Given the description of an element on the screen output the (x, y) to click on. 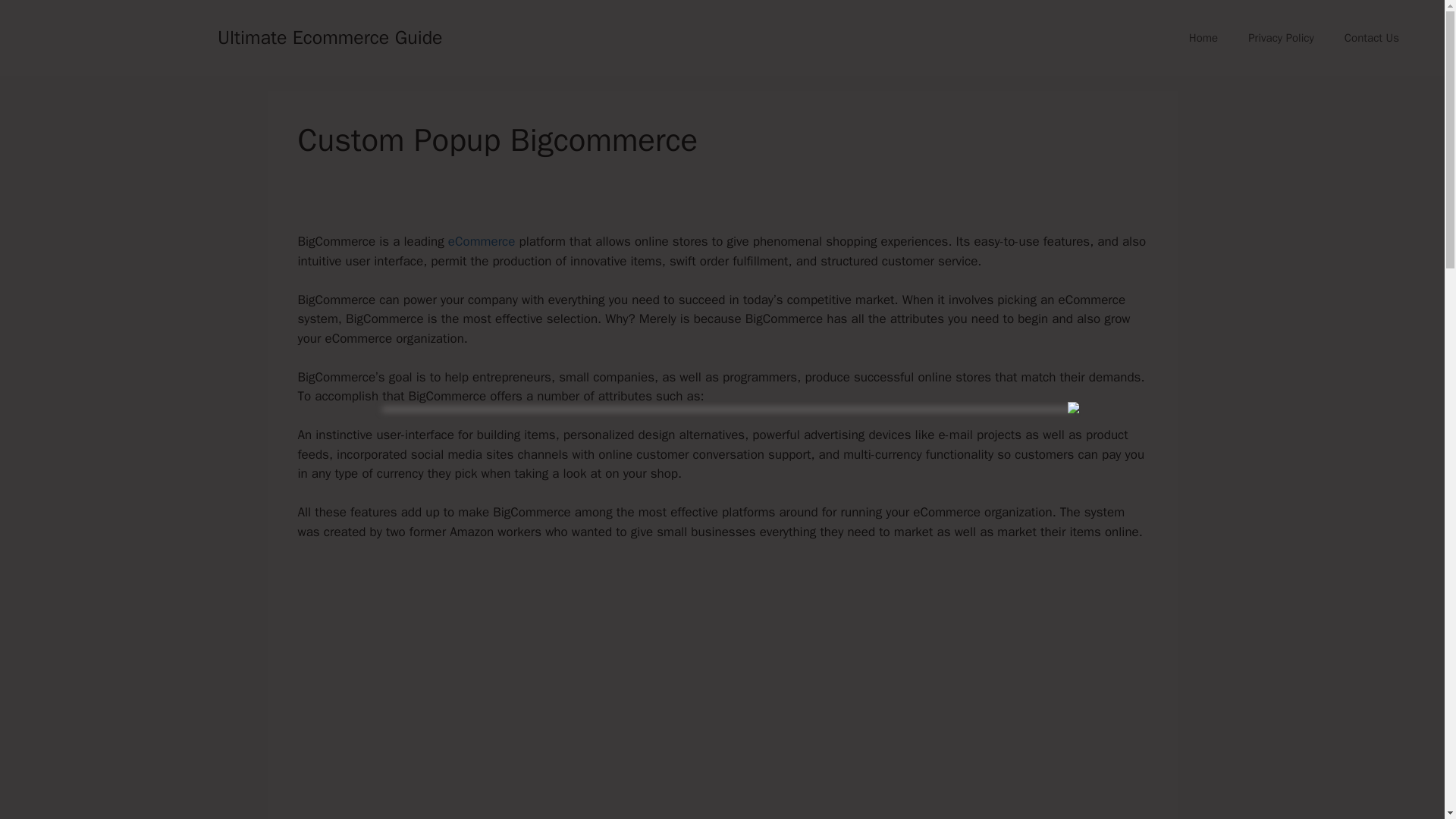
Home (1203, 37)
Close (1074, 407)
eCommerce (481, 241)
Contact Us (1371, 37)
Privacy Policy (1281, 37)
Ultimate Ecommerce Guide (329, 37)
